Given the description of an element on the screen output the (x, y) to click on. 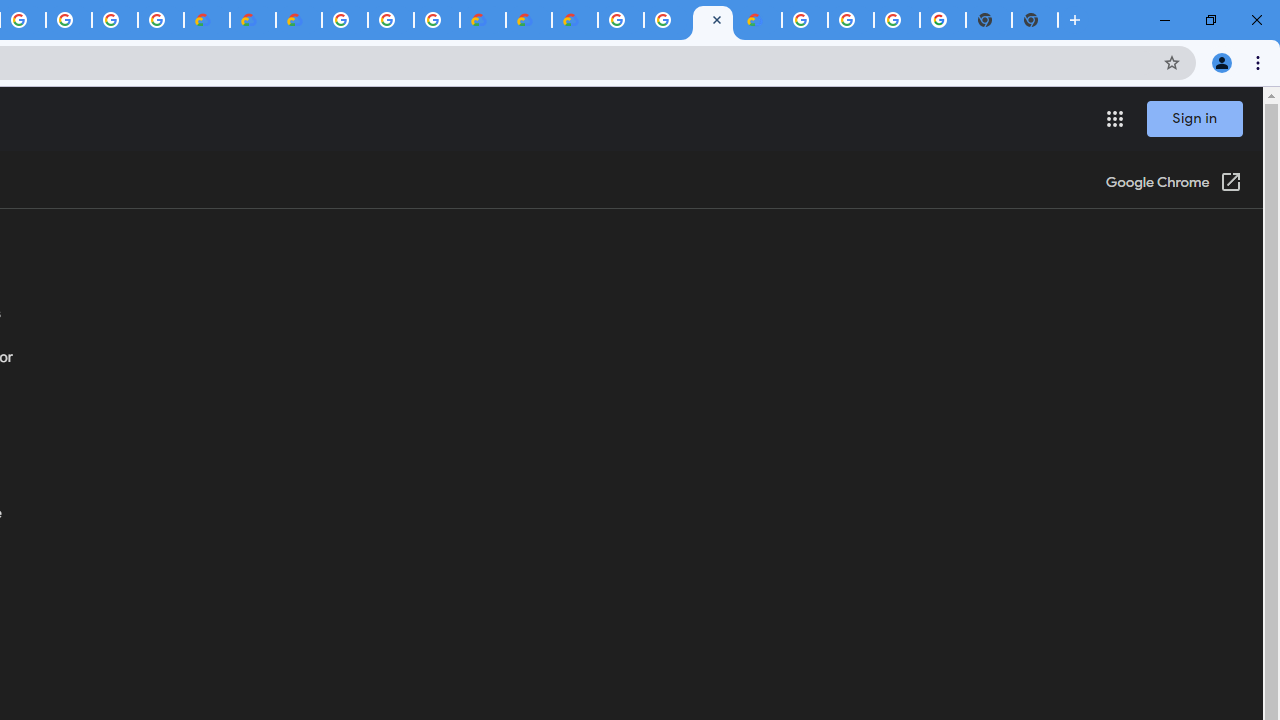
Google Cloud Estimate Summary (574, 20)
Customer Care | Google Cloud (482, 20)
Google Cloud Platform (345, 20)
Google Cloud Platform (805, 20)
Google Workspace - Specific Terms (115, 20)
Google Cloud Platform (851, 20)
Google Workspace - Specific Terms (161, 20)
Browse Chrome as a guest - Computer - Google Chrome Help (666, 20)
Google Cloud Platform (620, 20)
